Given the description of an element on the screen output the (x, y) to click on. 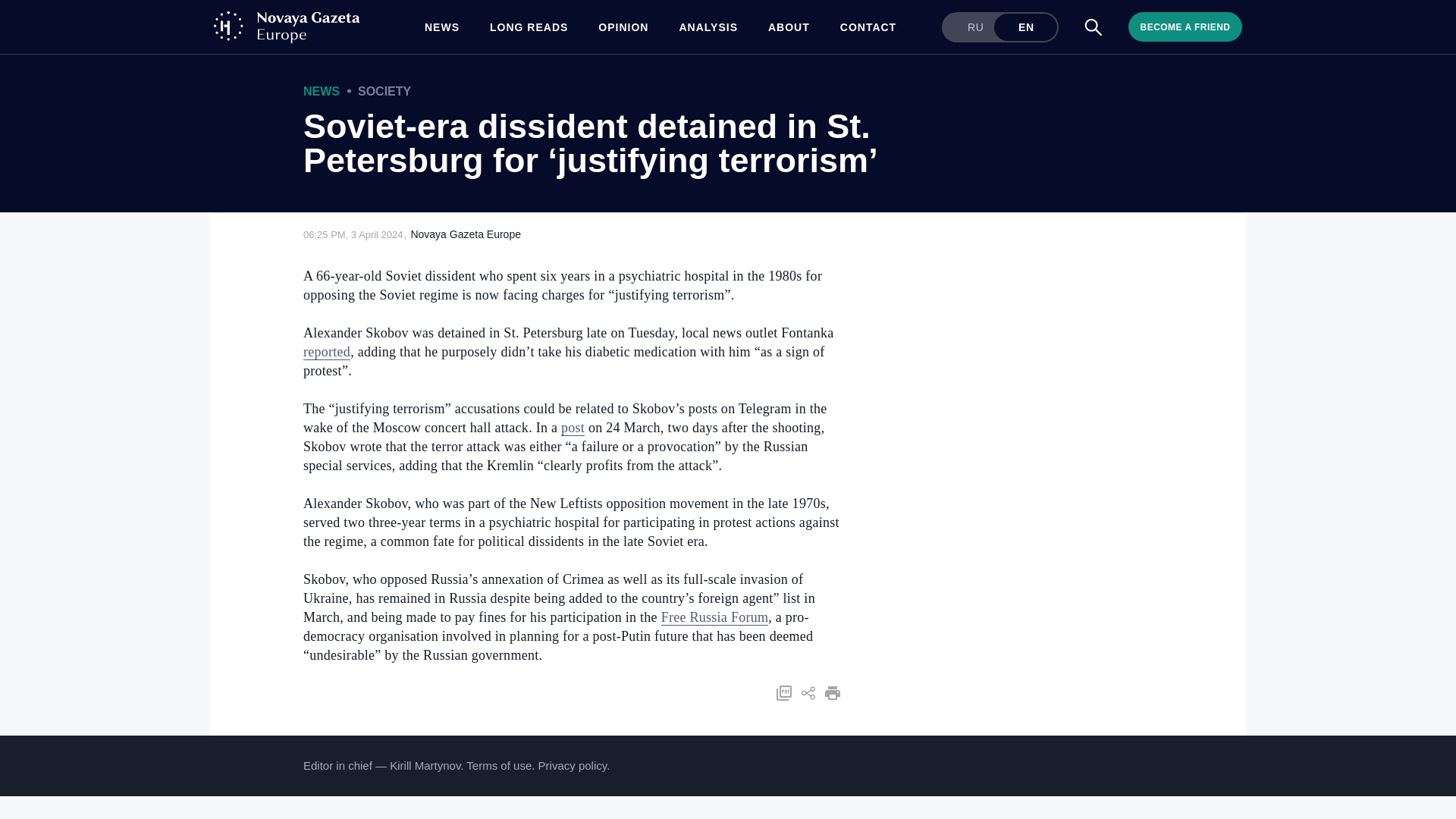
Long reads (528, 27)
post (572, 427)
Analysis (708, 27)
Free Russia Forum (714, 617)
Terms of use (498, 765)
Novaya Gazeta Europe (465, 234)
ANALYSIS (708, 27)
Novaya Gazeta Europe (291, 26)
Contact (868, 27)
Opinion (622, 27)
Novaya Gazeta Europe (1000, 27)
reported (465, 234)
CONTACT (326, 351)
pdf (868, 27)
